Given the description of an element on the screen output the (x, y) to click on. 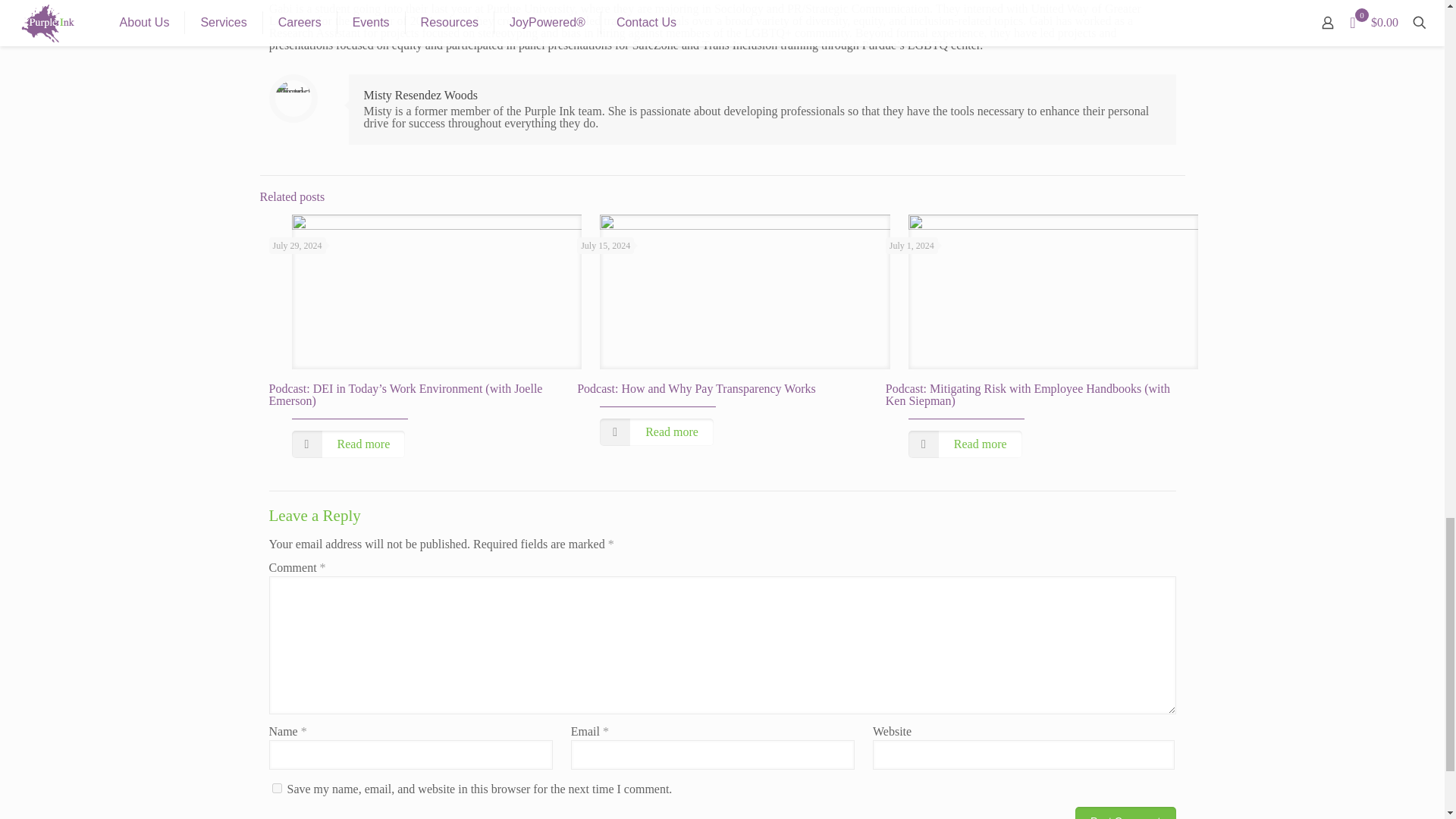
yes (275, 787)
Post Comment (1125, 812)
